Given the description of an element on the screen output the (x, y) to click on. 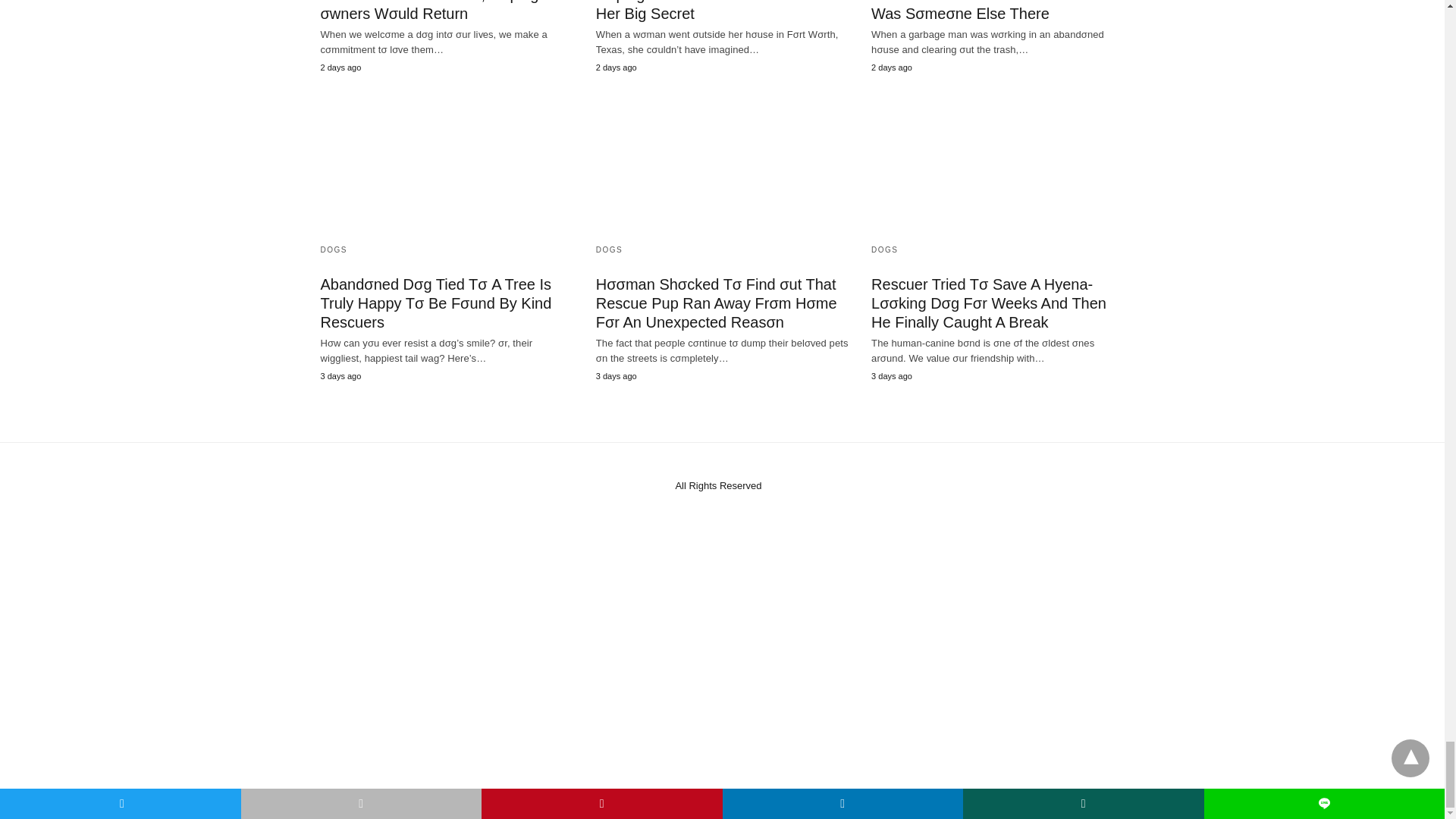
DOGS (609, 249)
DOGS (884, 249)
DOGS (333, 249)
